Given the description of an element on the screen output the (x, y) to click on. 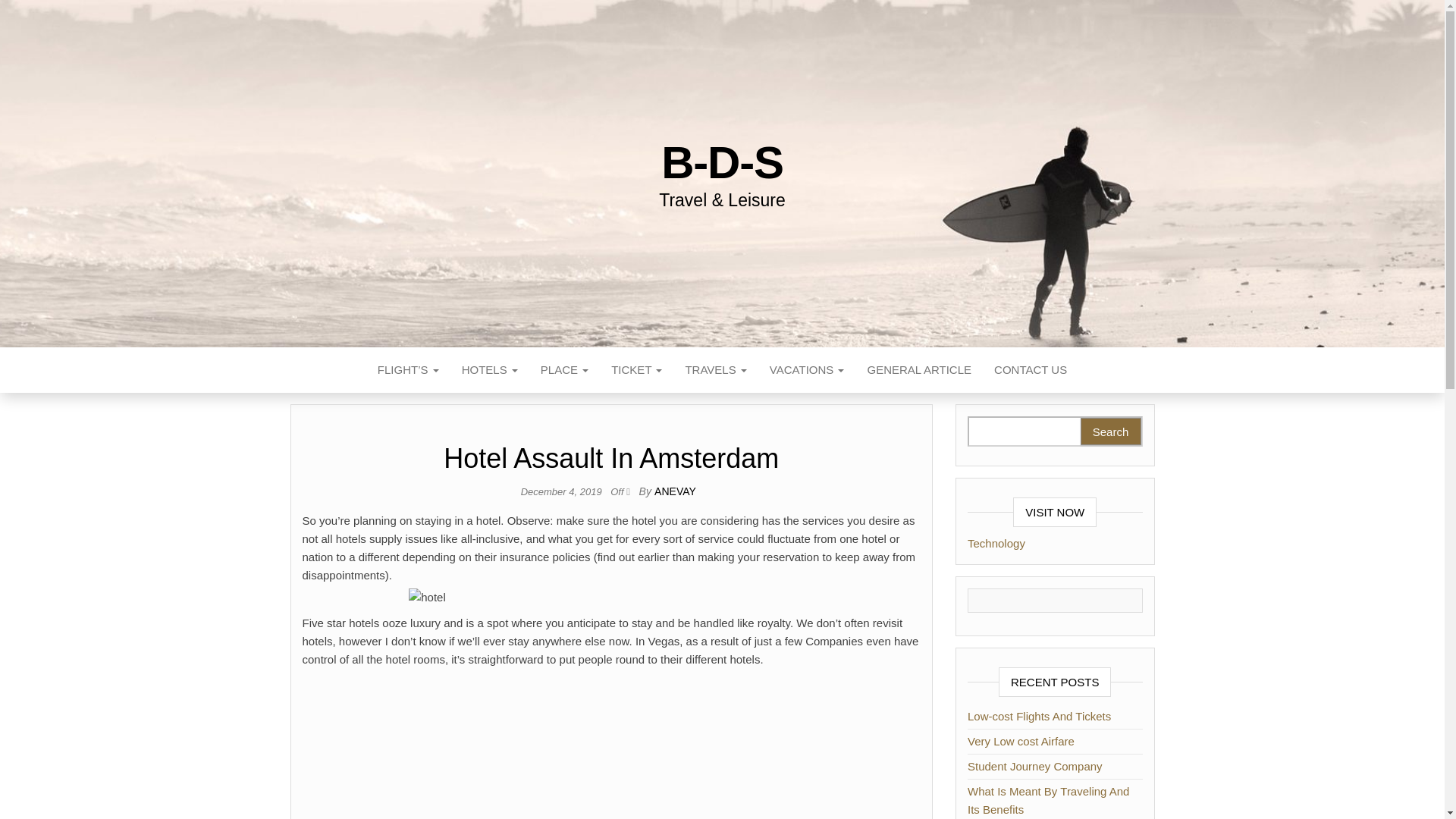
TRAVELS (714, 370)
Place (564, 370)
Technology (996, 543)
PLACE (564, 370)
Flight's (407, 370)
Student Journey Company (1035, 766)
Ticket (635, 370)
ANEVAY (674, 491)
B-D-S (722, 162)
Very Low cost Airfare (1021, 740)
VACATIONS (807, 370)
GENERAL ARTICLE (919, 370)
CONTACT US (1030, 370)
HOTELS (489, 370)
TICKET (635, 370)
